Given the description of an element on the screen output the (x, y) to click on. 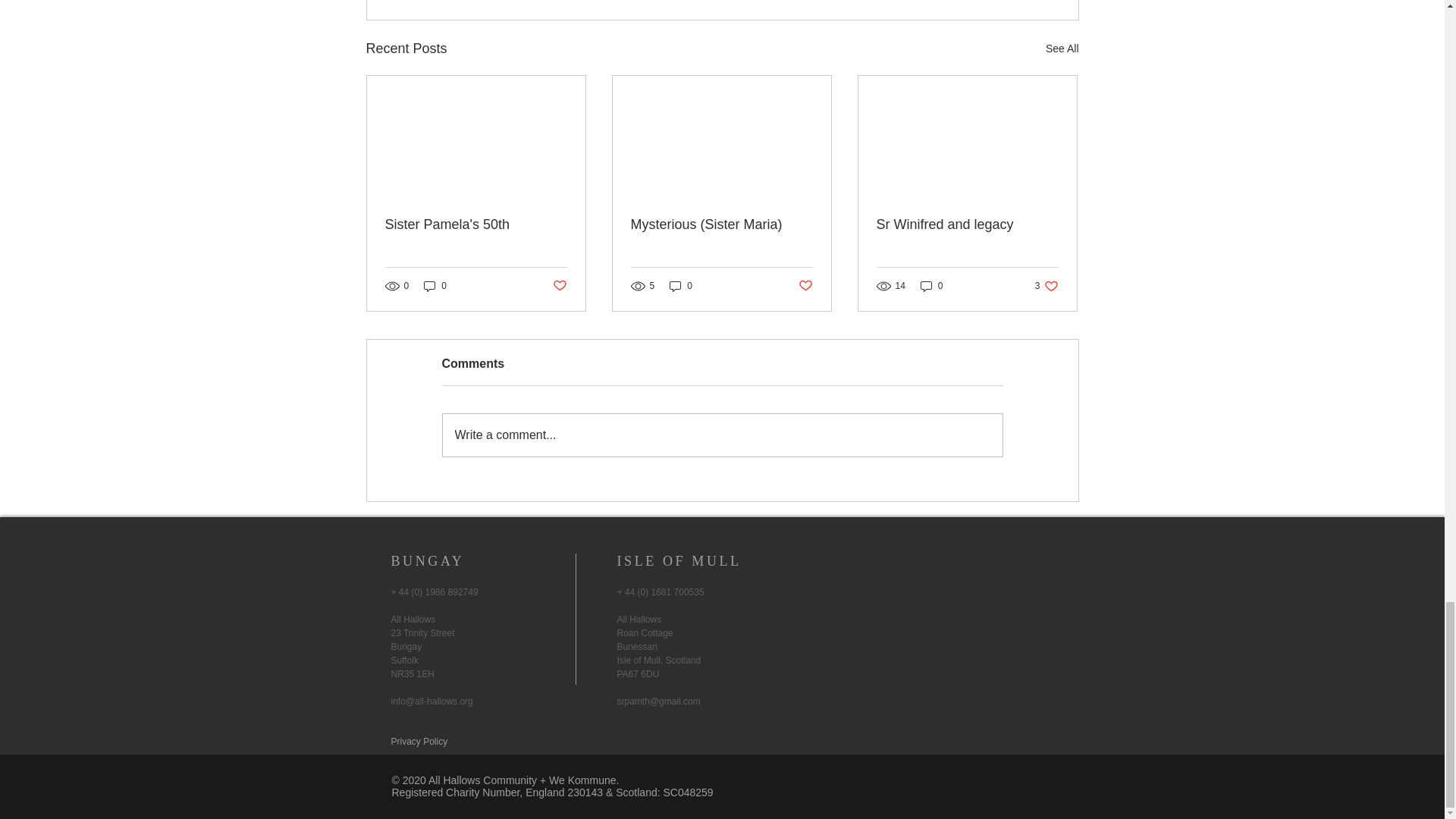
0 (681, 286)
0 (931, 286)
Sr Winifred and legacy (967, 224)
Privacy Policy (419, 741)
0 (435, 286)
Post not marked as liked (804, 286)
Post not marked as liked (558, 286)
Sister Pamela's 50th (1046, 286)
Write a comment... (476, 224)
See All (722, 435)
